Given the description of an element on the screen output the (x, y) to click on. 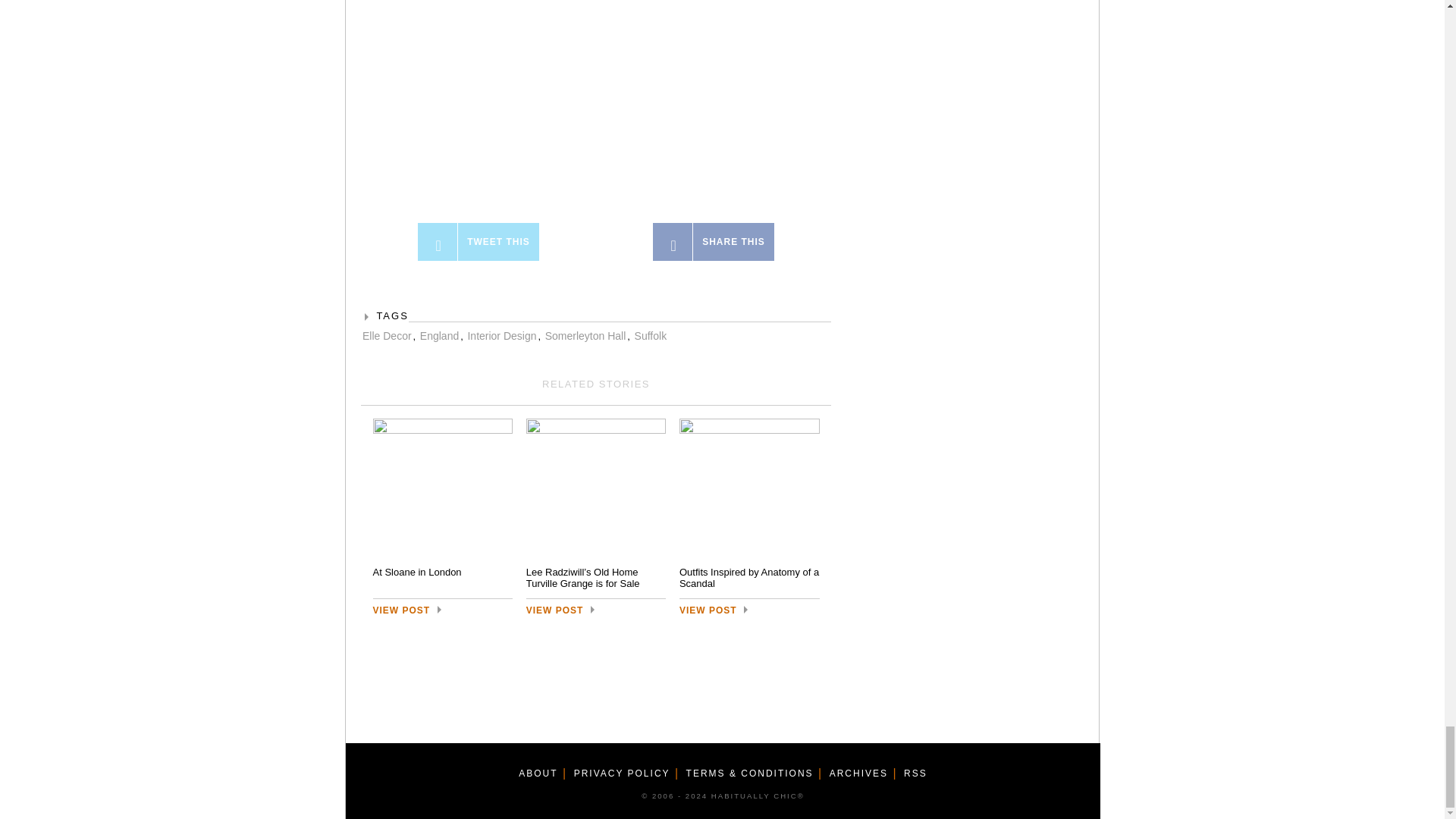
ABOUT (537, 773)
SHARE THIS (713, 241)
VIEW POST (561, 610)
VIEW POST (715, 610)
England (439, 336)
Suffolk (650, 336)
VIEW POST (408, 610)
PRIVACY POLICY (621, 773)
TWEET THIS (477, 241)
Elle Decor (387, 336)
